Given the description of an element on the screen output the (x, y) to click on. 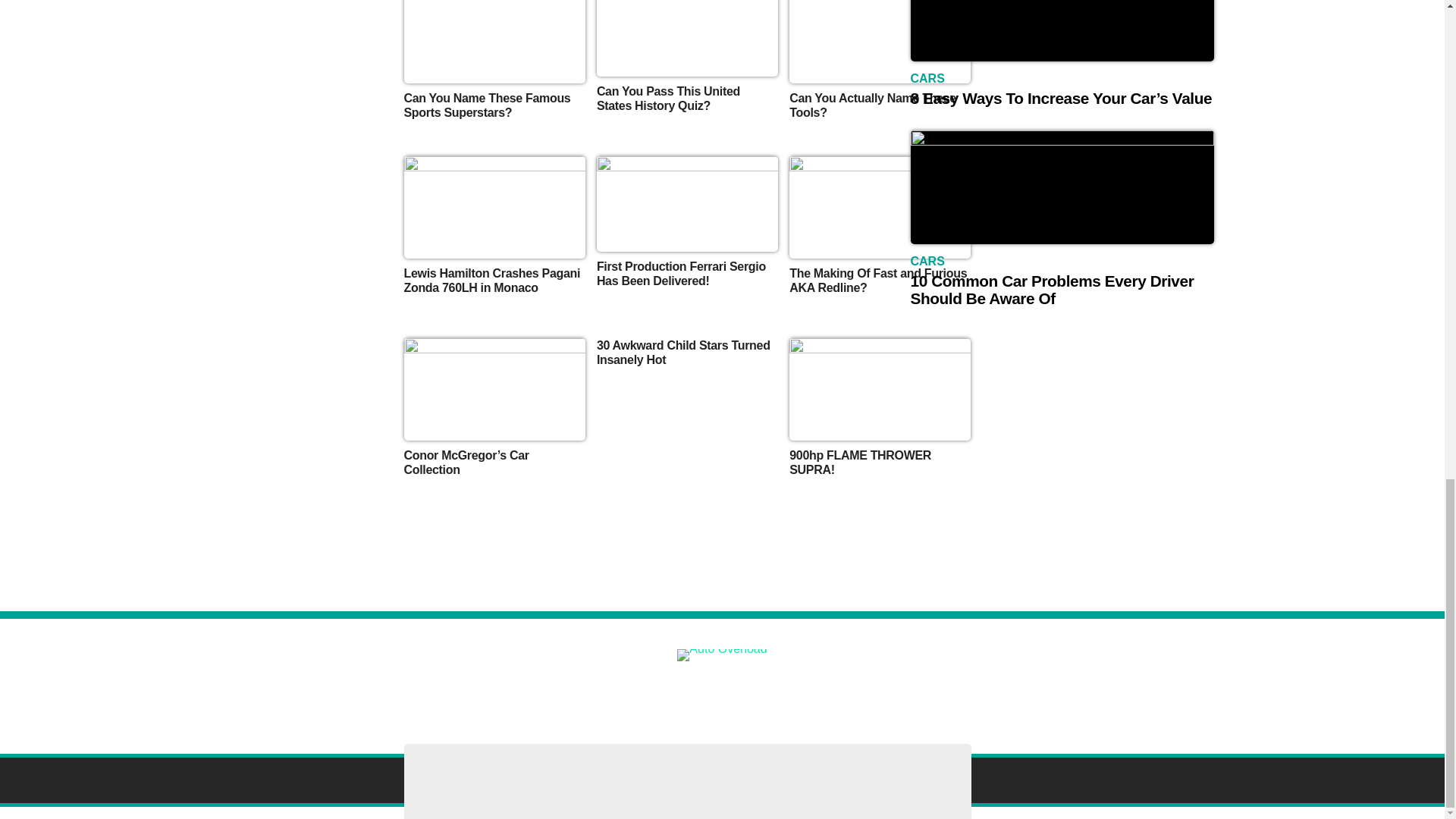
EDITORIAL POLICIES (909, 690)
ABOUT US (319, 690)
DO NOT SELL MY PERSONAL INFORMATION (736, 690)
DMCA NOTICE (578, 690)
DISCLOSURES AND DISCLAIMERS (443, 690)
TERMS OF USE (1012, 690)
